Given the description of an element on the screen output the (x, y) to click on. 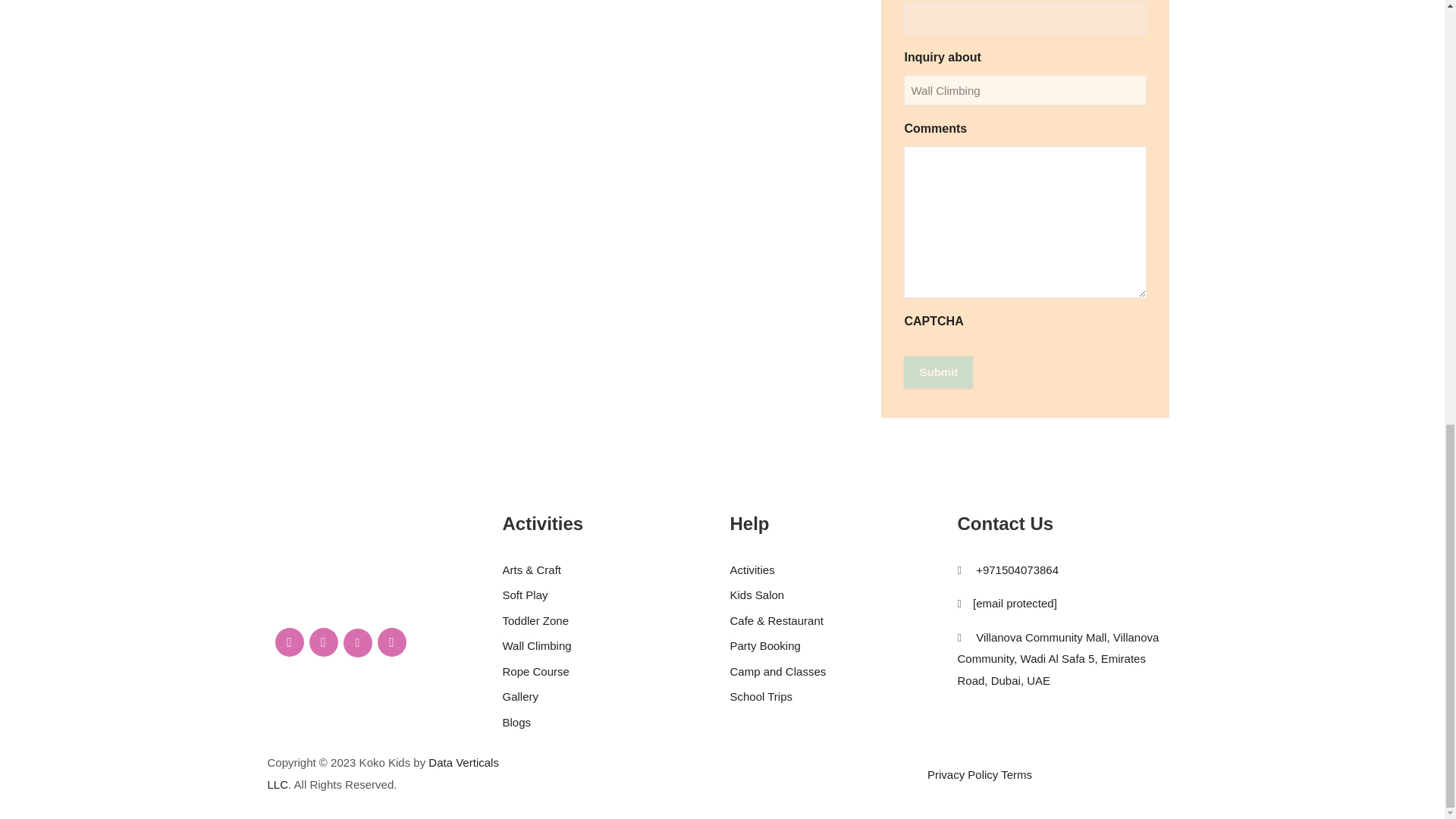
Submit (938, 372)
